Given the description of an element on the screen output the (x, y) to click on. 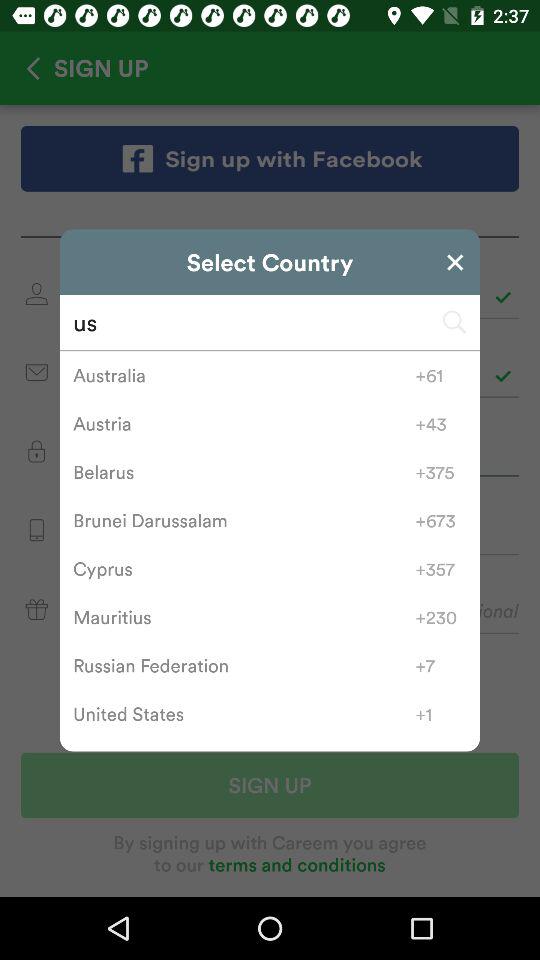
press +230 icon (440, 617)
